Given the description of an element on the screen output the (x, y) to click on. 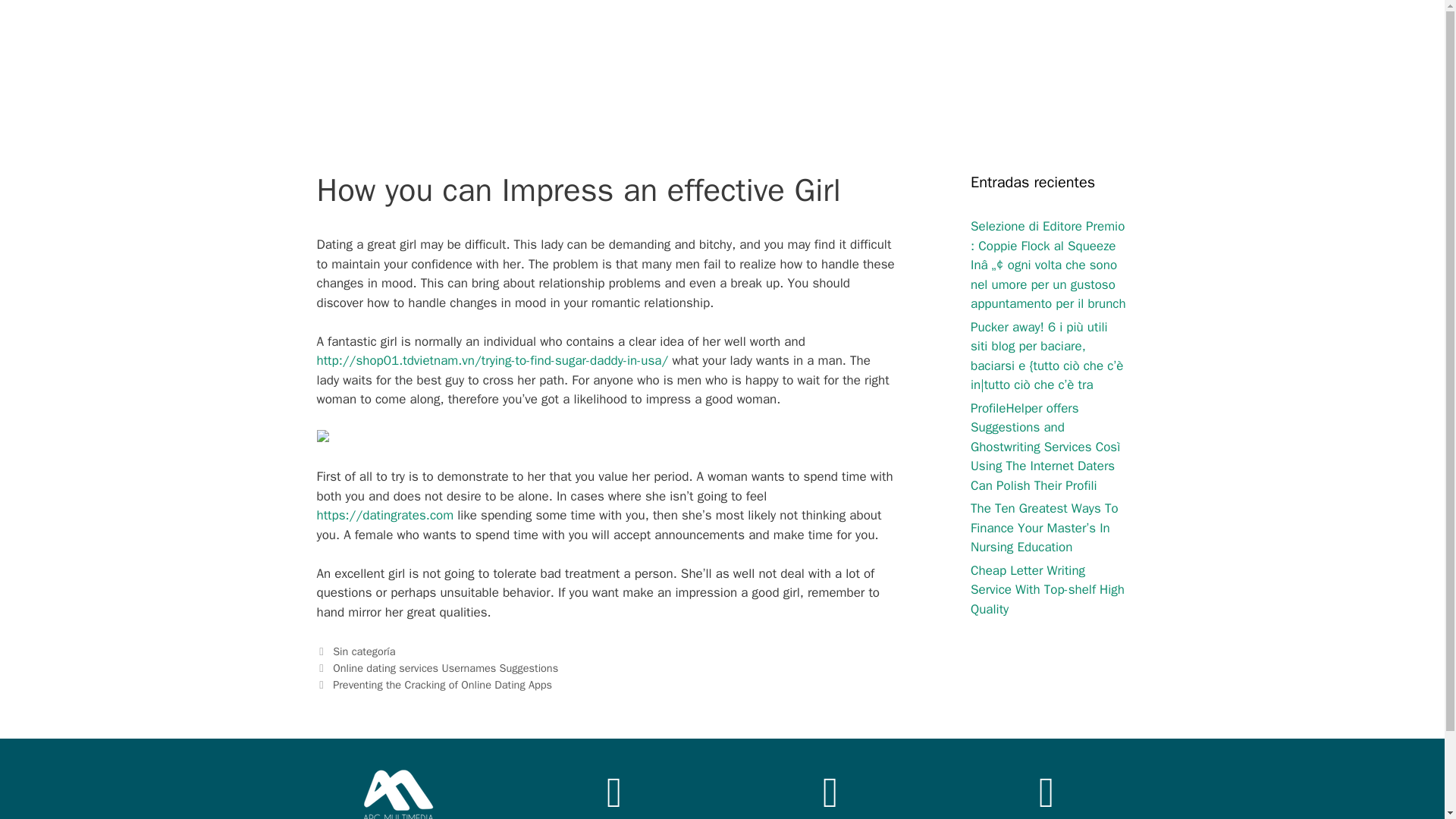
Inicio (1165, 37)
Anterior (438, 667)
Contacto (1331, 37)
Servicios (1242, 37)
Siguiente (435, 684)
